Given the description of an element on the screen output the (x, y) to click on. 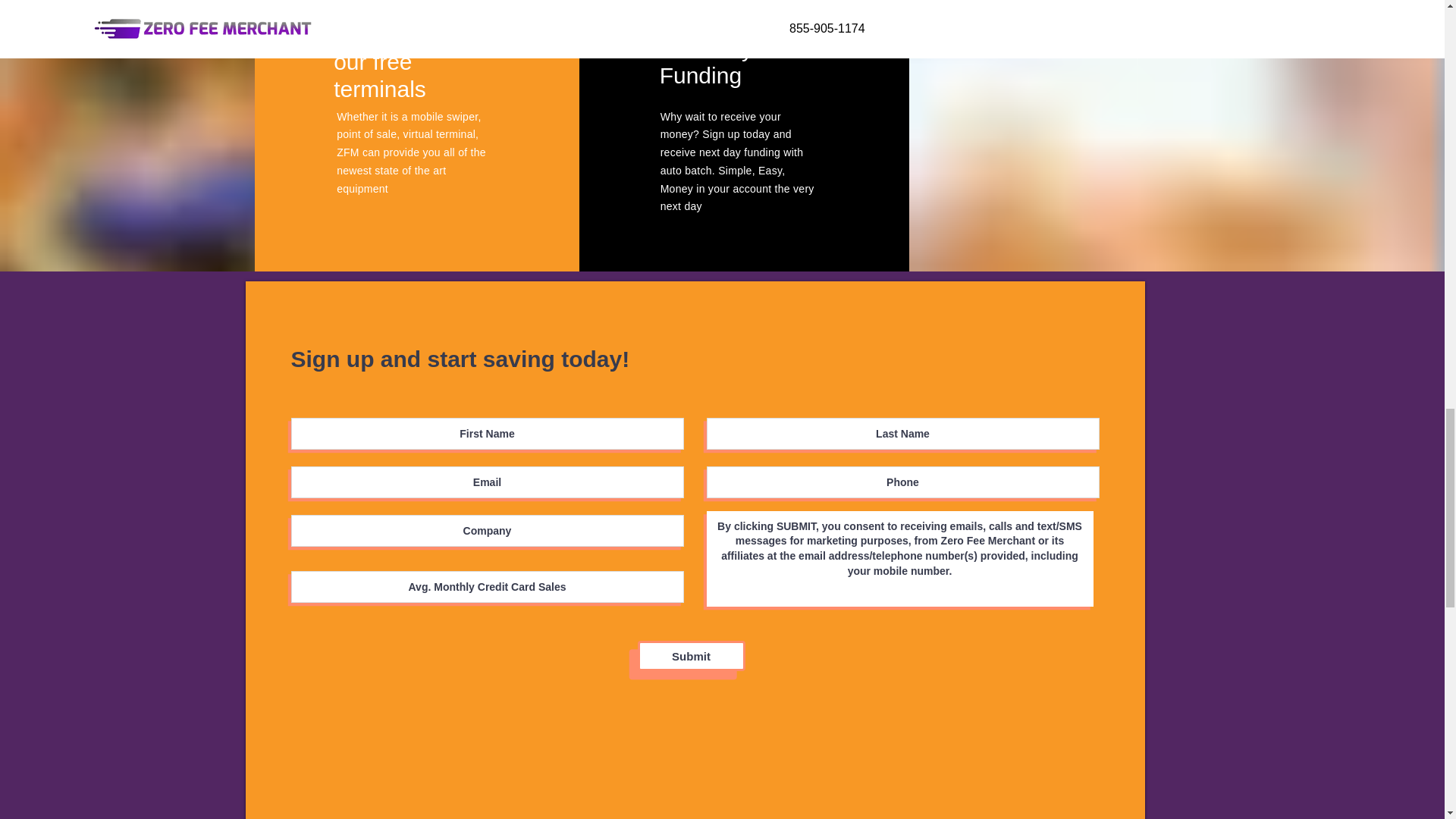
Submit (690, 655)
